Given the description of an element on the screen output the (x, y) to click on. 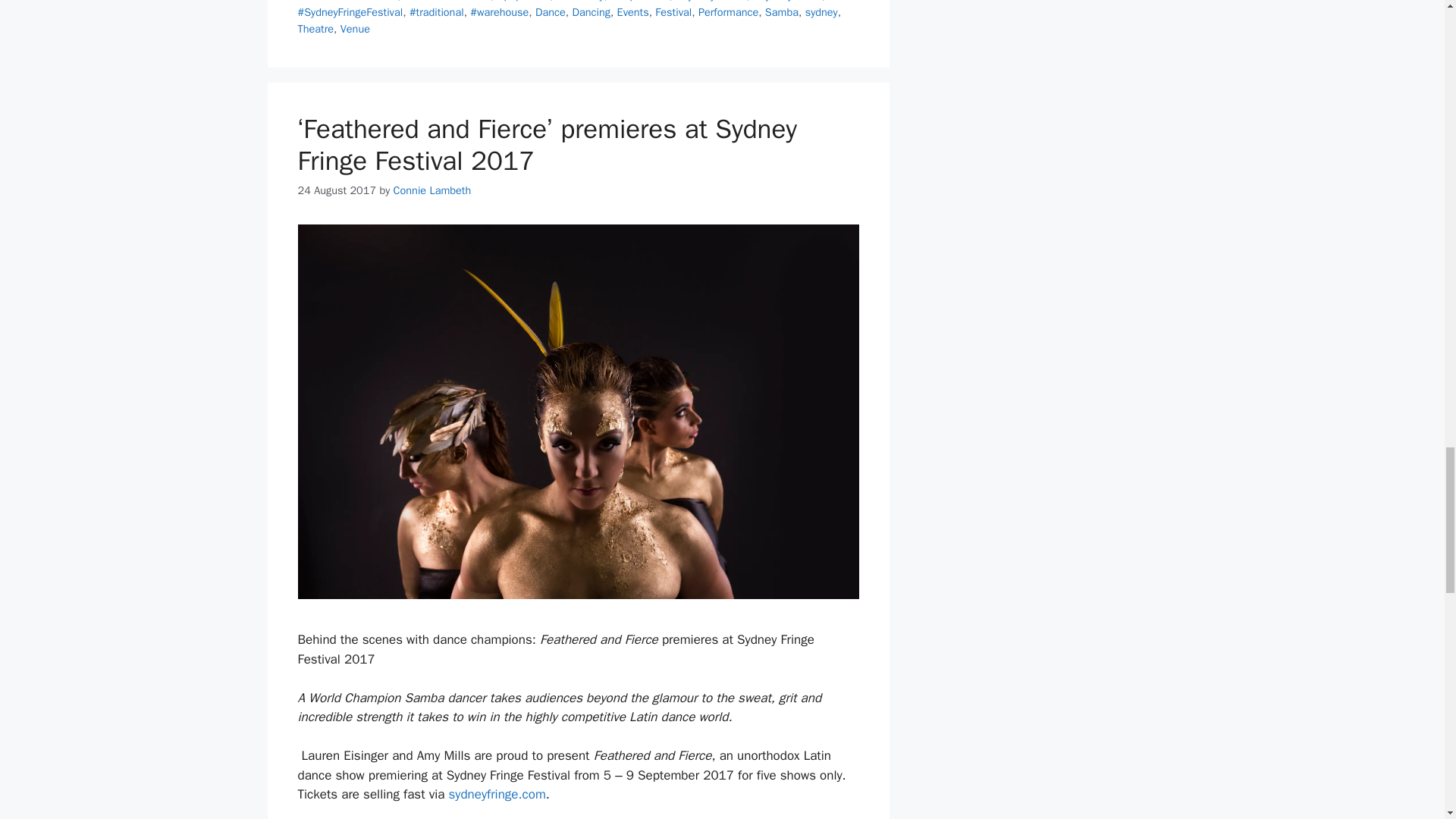
View all posts by Connie Lambeth (432, 190)
